Given the description of an element on the screen output the (x, y) to click on. 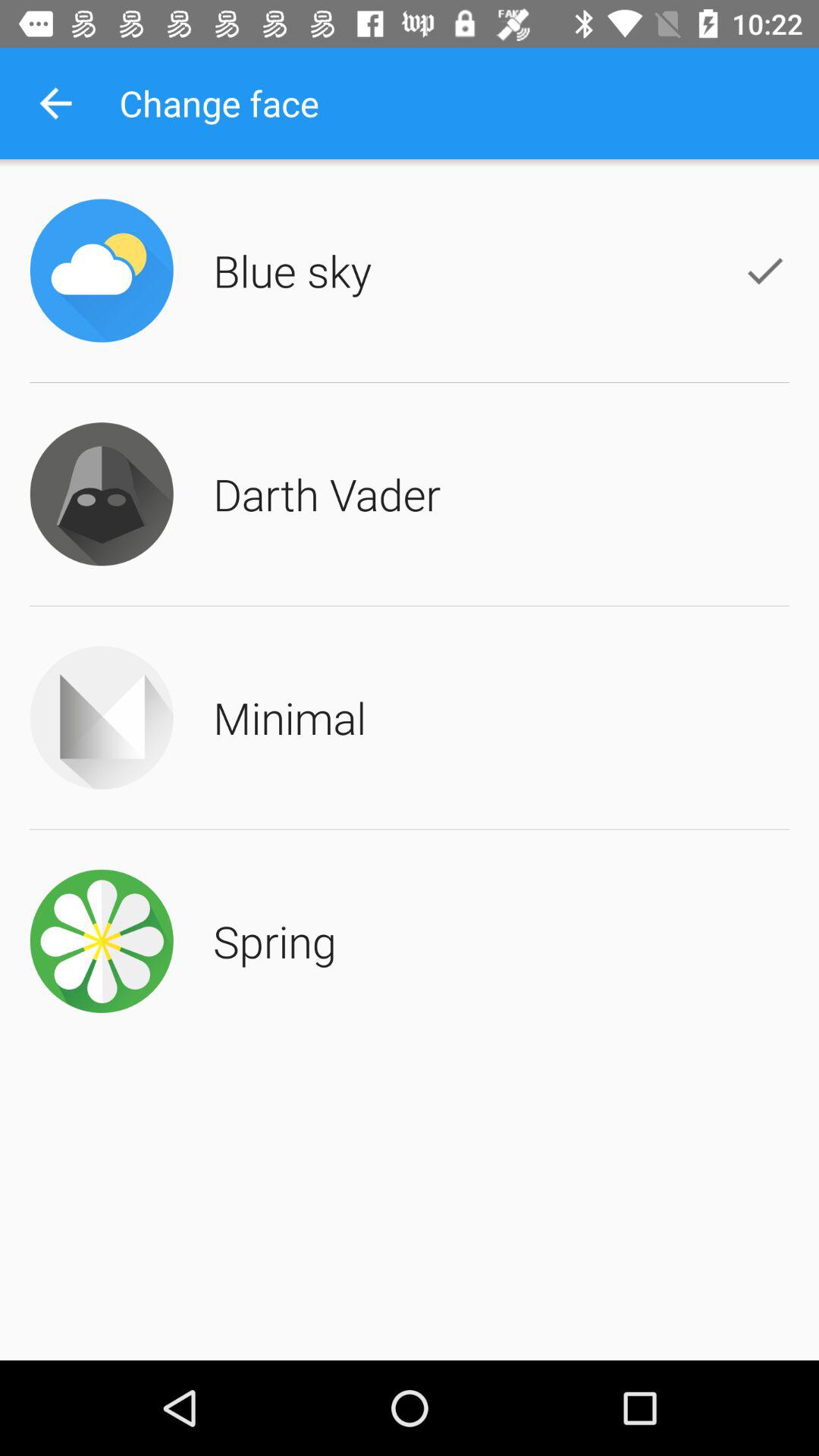
launch item below darth vader (289, 717)
